Given the description of an element on the screen output the (x, y) to click on. 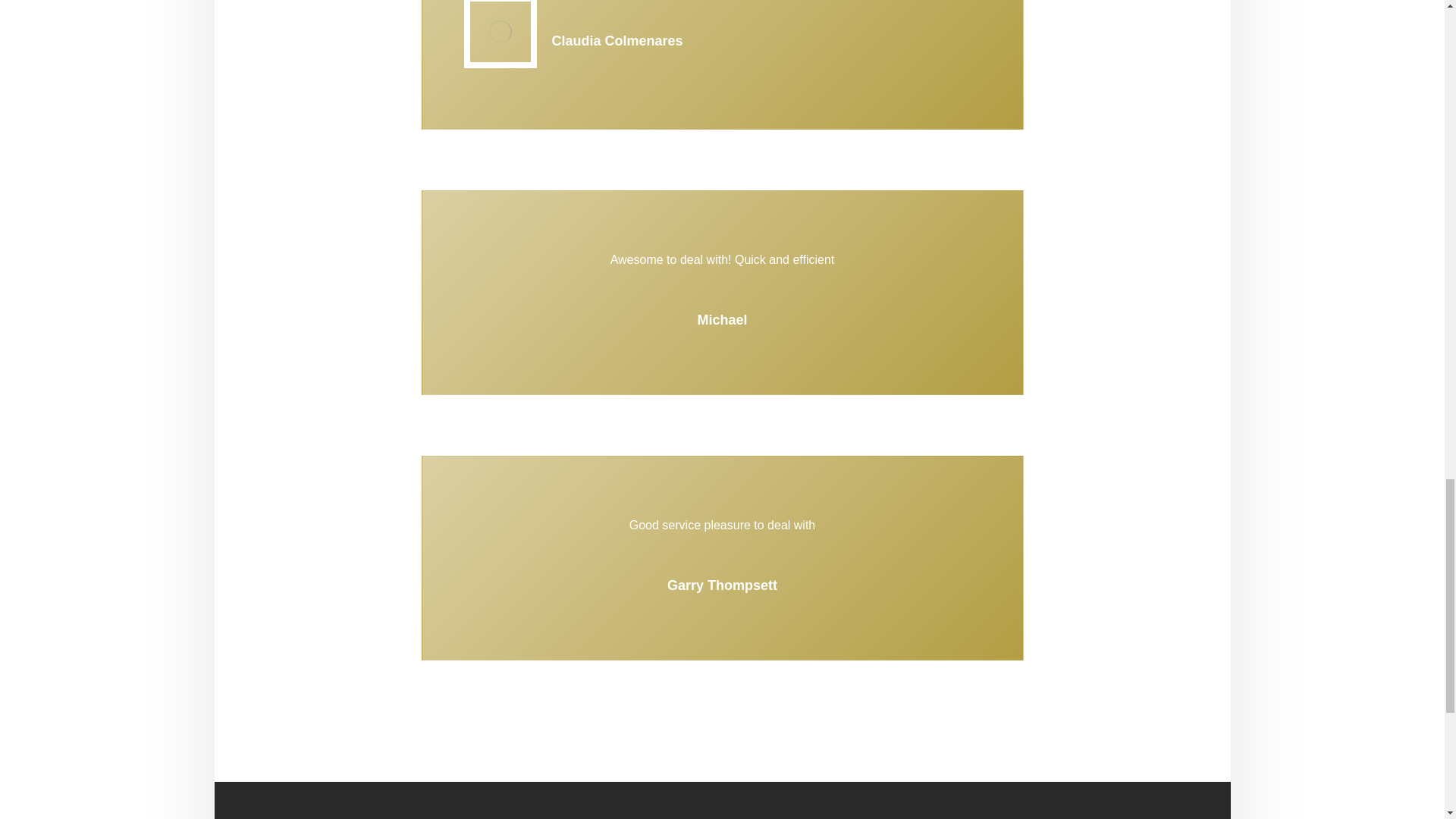
Claudia Colmenares (500, 31)
